Given the description of an element on the screen output the (x, y) to click on. 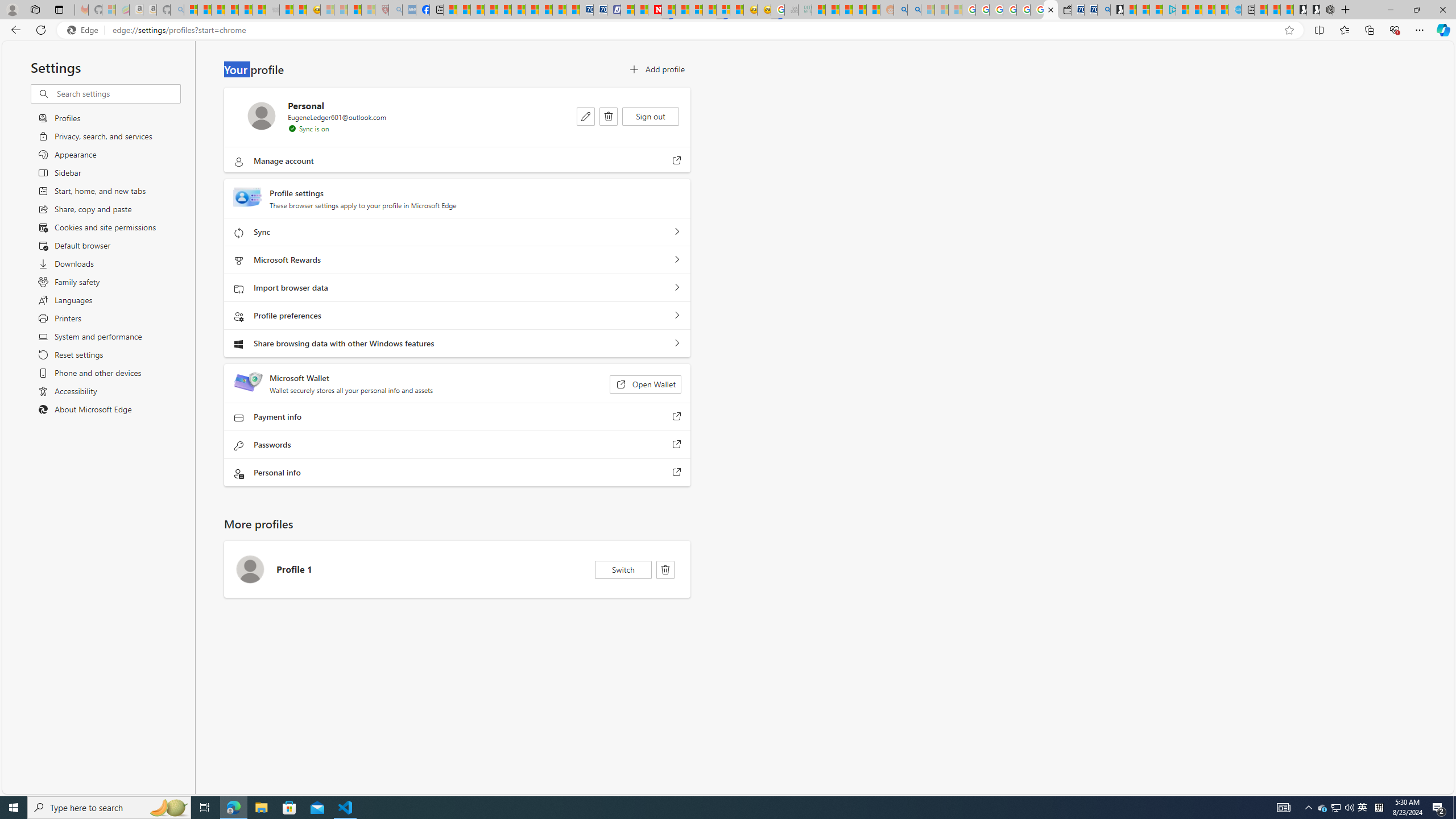
12 Popular Science Lies that Must be Corrected - Sleeping (368, 9)
Microsoft-Report a Concern to Bing - Sleeping (108, 9)
Import browser data (676, 287)
App bar (728, 29)
Search settings (117, 93)
The Weather Channel - MSN (218, 9)
Trusted Community Engagement and Contributions | Guidelines (667, 9)
Wallet (1063, 9)
Address and search bar (695, 29)
Profile preferences (676, 315)
